Given the description of an element on the screen output the (x, y) to click on. 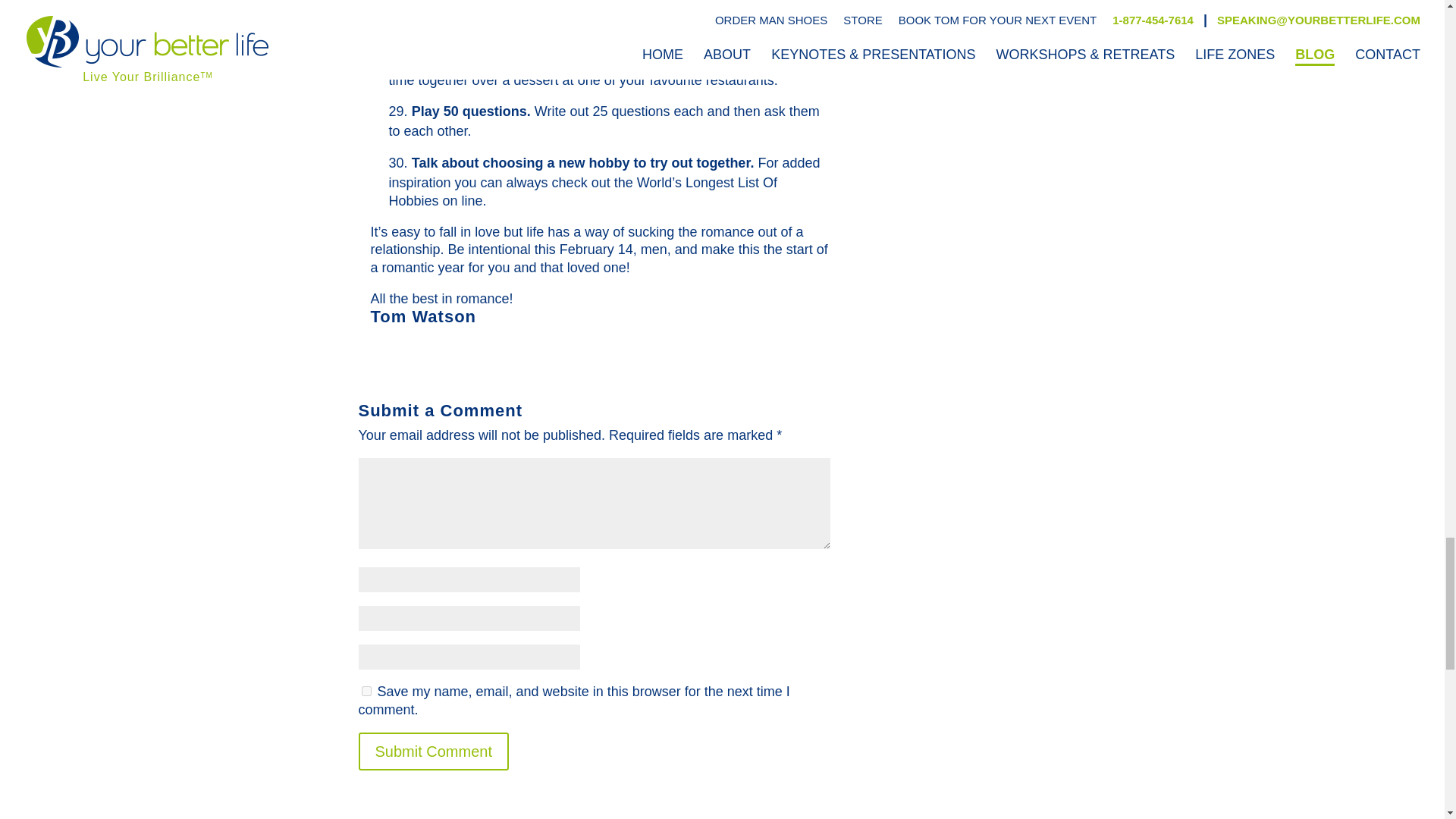
Submit Comment (433, 751)
yes (366, 691)
